Given the description of an element on the screen output the (x, y) to click on. 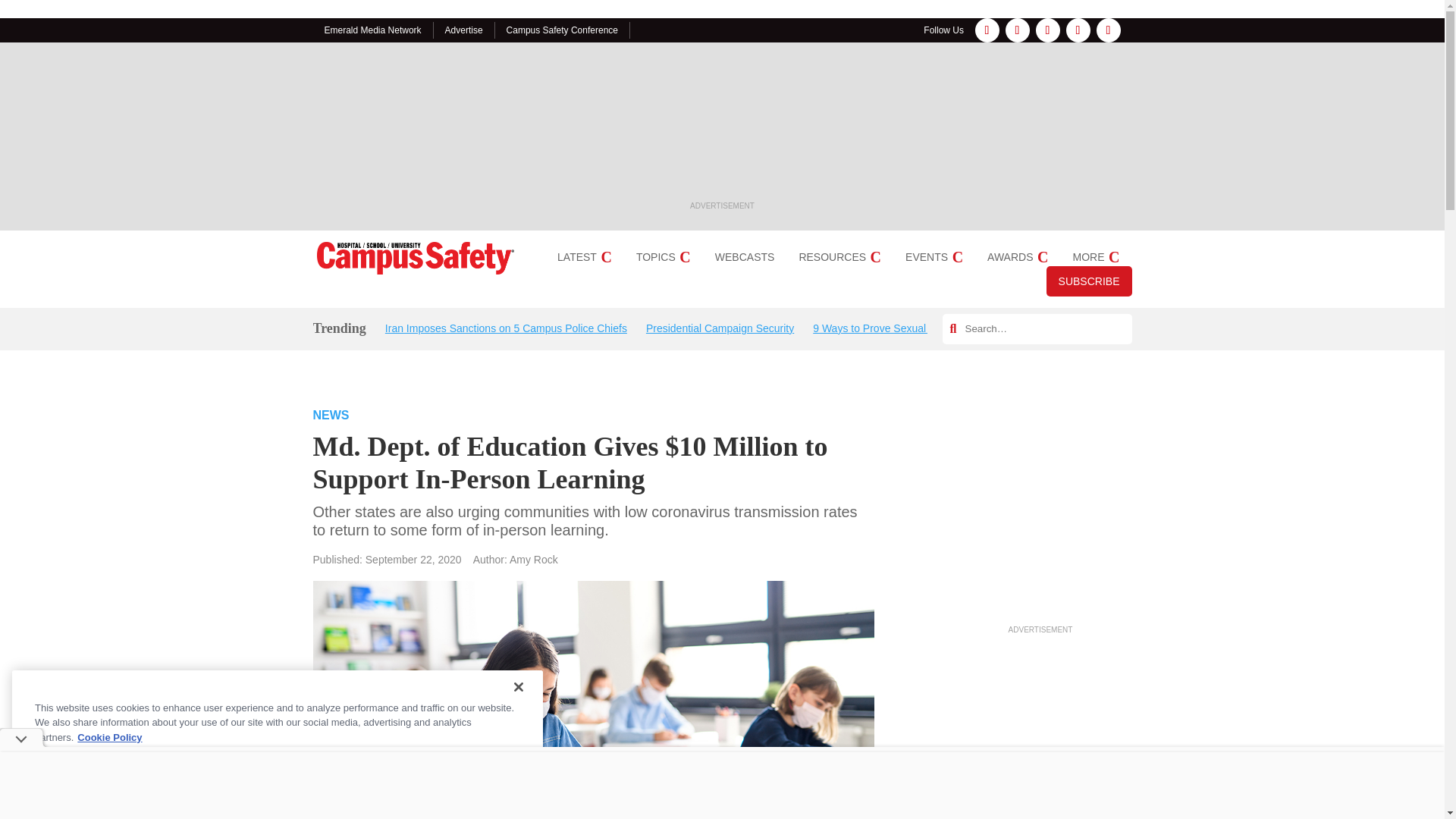
Follow on Instagram (1017, 30)
Follow on LinkedIn (1047, 30)
Campus Safety Conference (561, 30)
LATEST (584, 256)
TOPICS (663, 256)
3rd party ad content (722, 127)
Follow on X (1077, 30)
Advertise (464, 30)
Follow on Youtube (1108, 30)
Emerald Media Network (373, 30)
Follow on Facebook (986, 30)
